Given the description of an element on the screen output the (x, y) to click on. 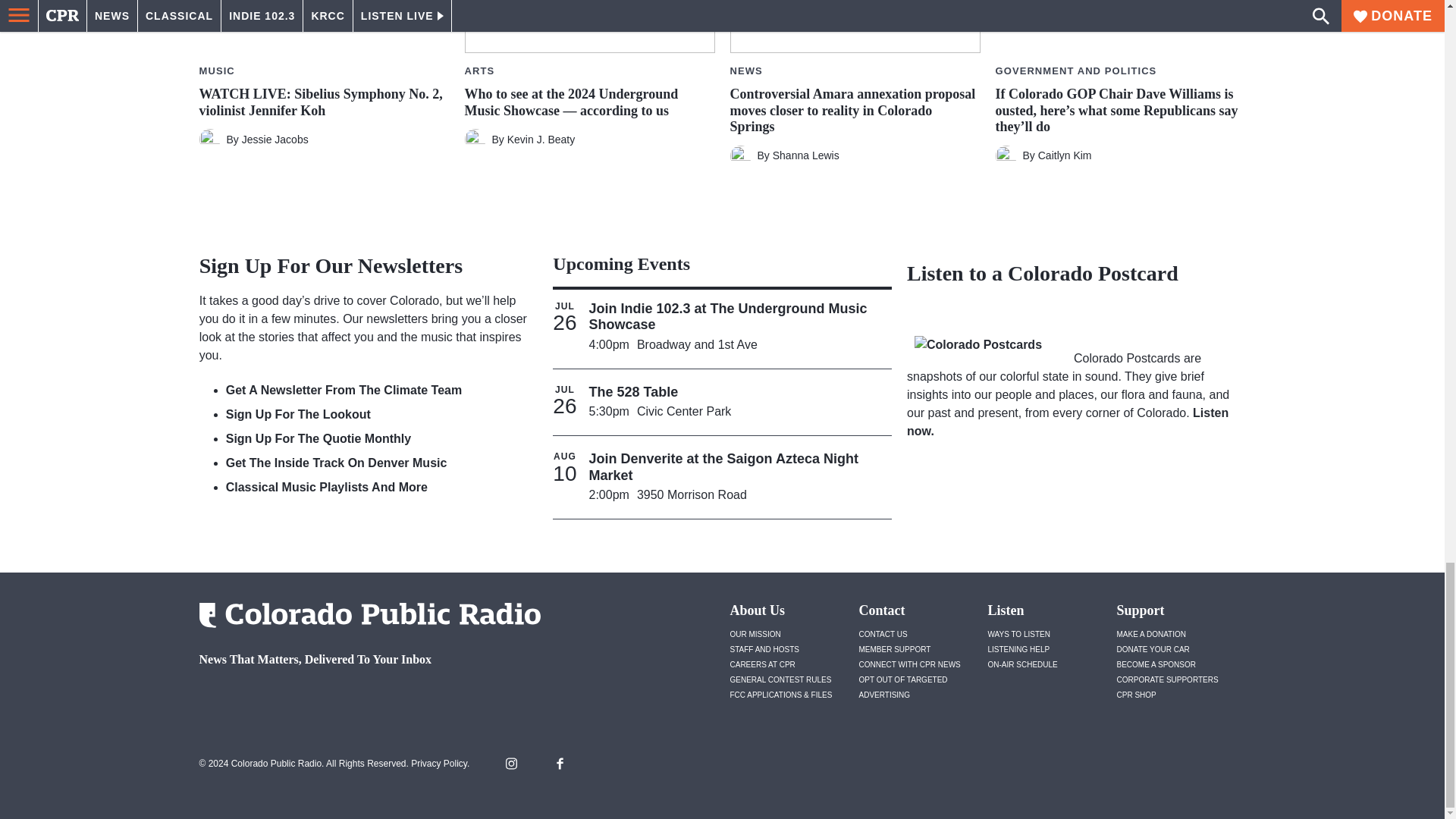
footer (364, 699)
